Given the description of an element on the screen output the (x, y) to click on. 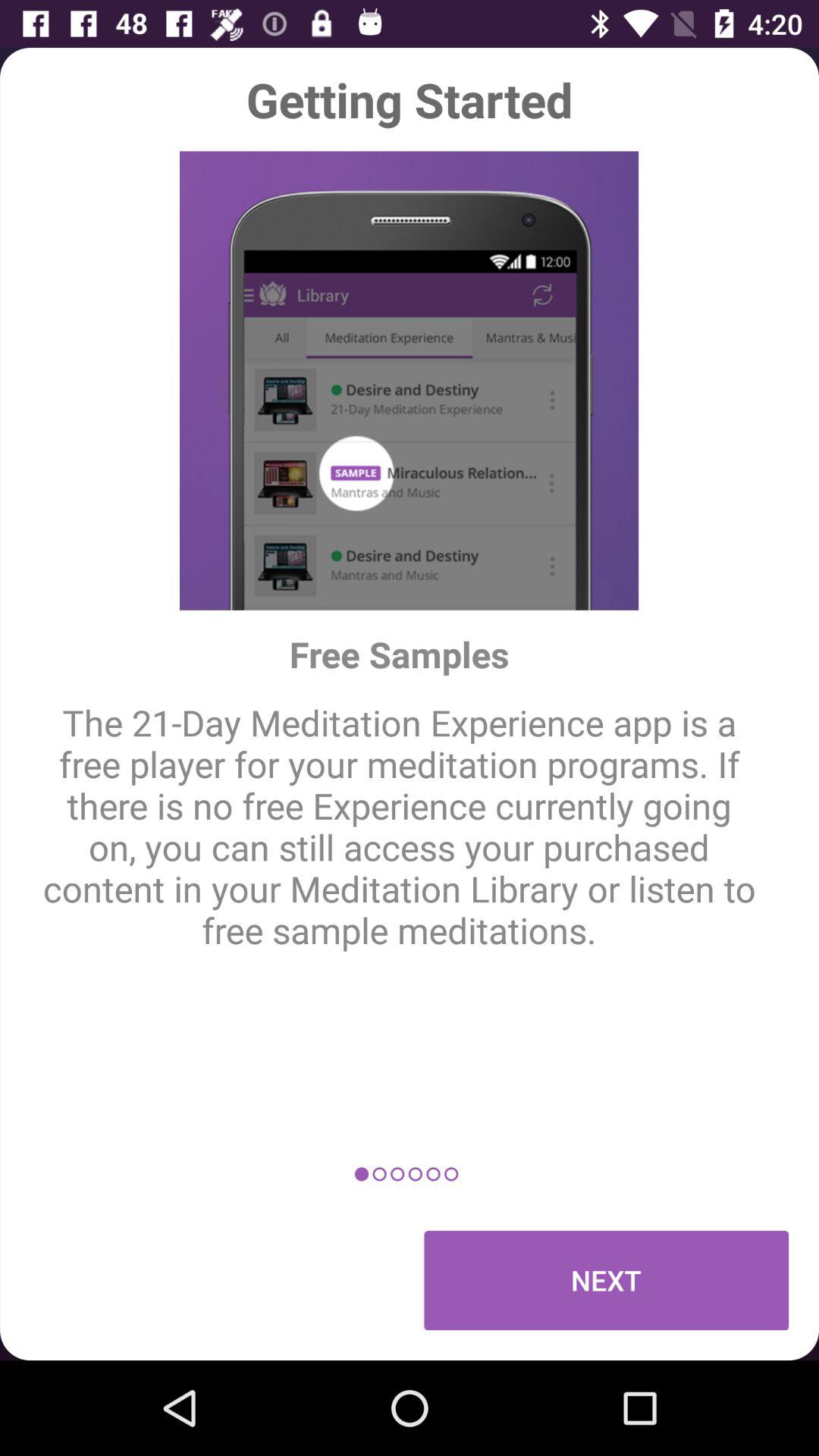
scroll until next item (606, 1280)
